Given the description of an element on the screen output the (x, y) to click on. 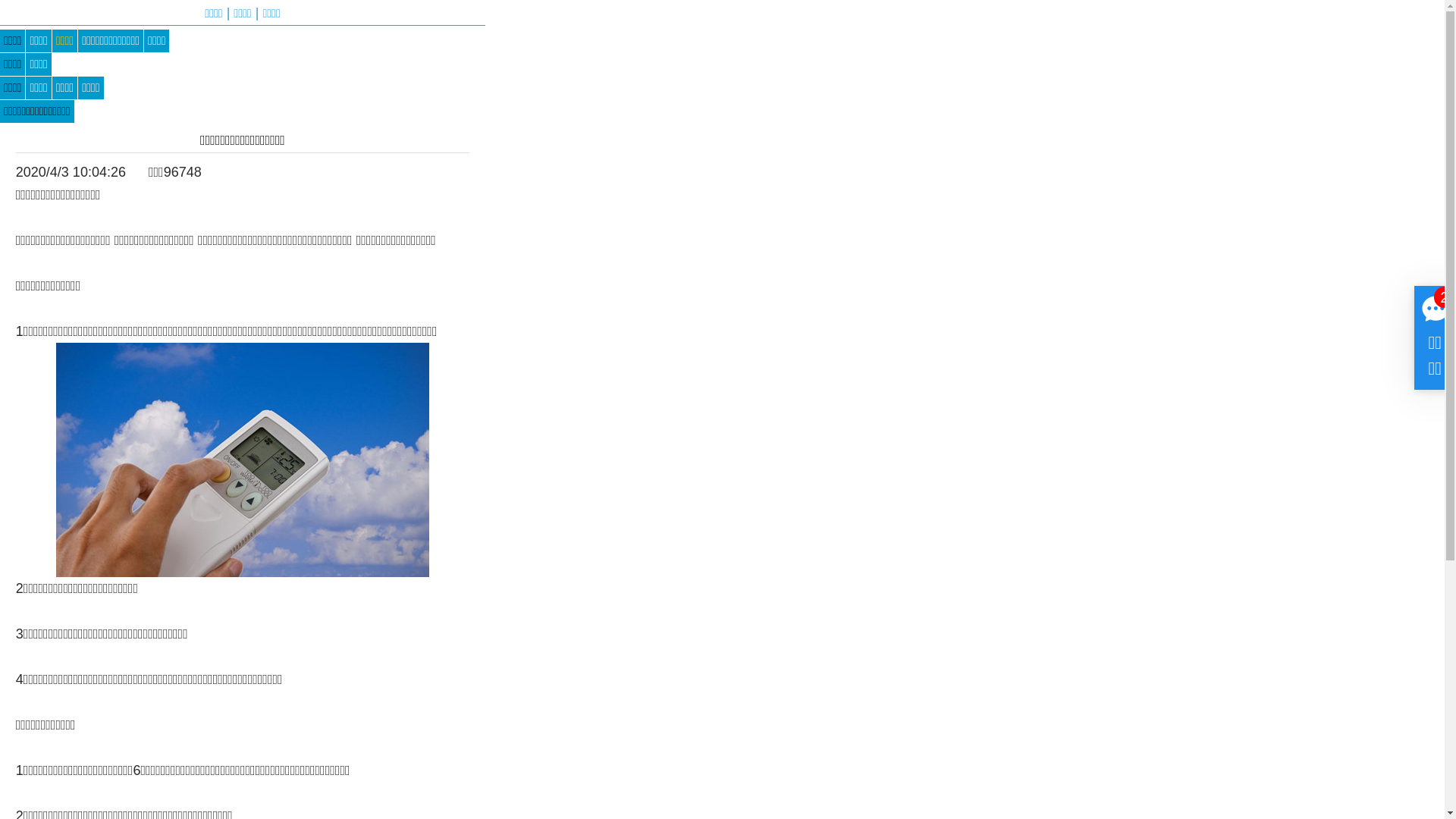
2 Element type: text (1444, 296)
